Given the description of an element on the screen output the (x, y) to click on. 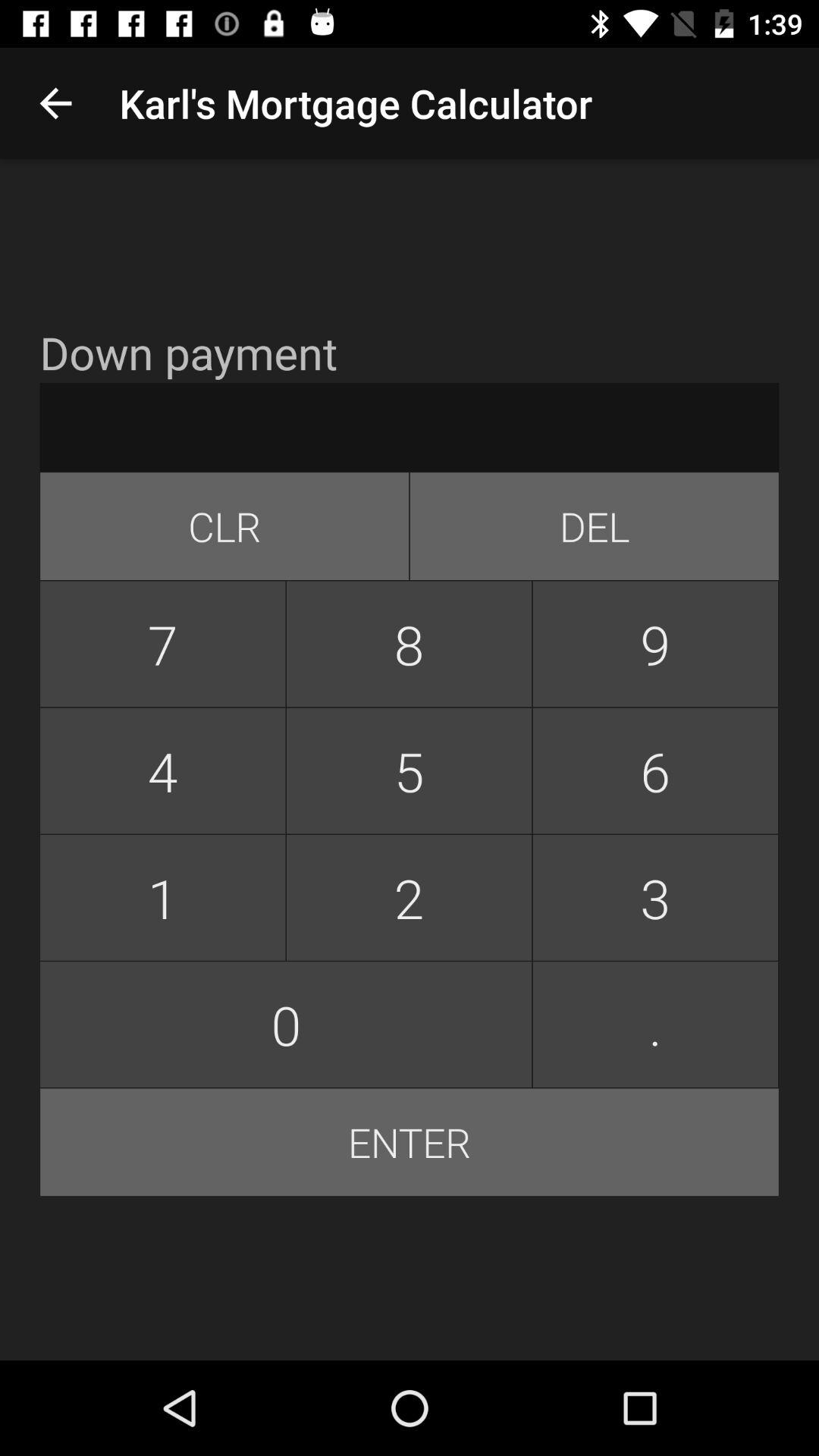
launch item to the left of the 8 button (162, 643)
